Given the description of an element on the screen output the (x, y) to click on. 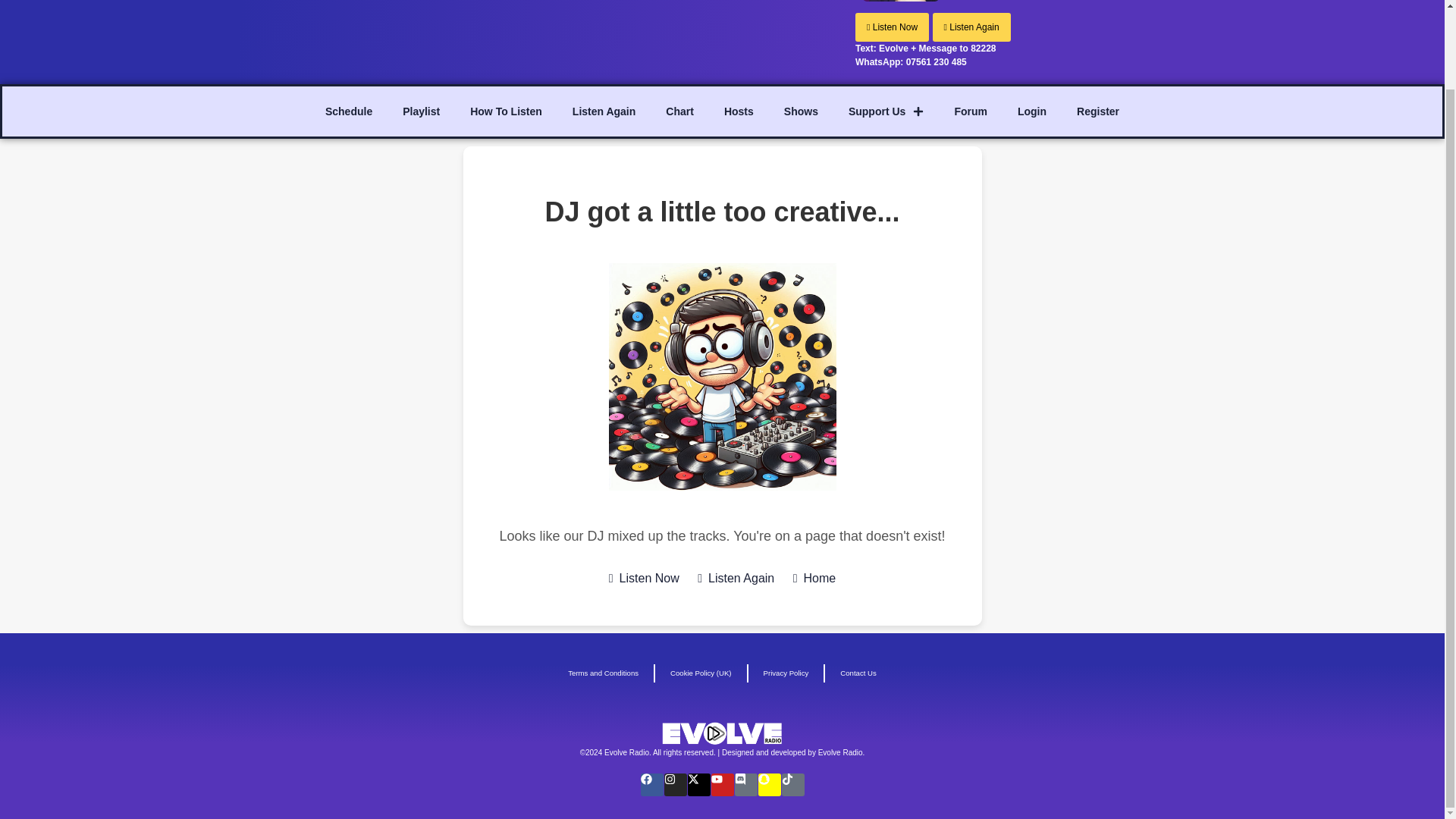
Schedule (348, 111)
Listen Again (970, 27)
Chart (679, 111)
Register (1097, 111)
Forum (971, 111)
Shows (800, 111)
Terms and Conditions (603, 673)
Playlist (420, 111)
Support Us (885, 111)
Home (814, 578)
How To Listen (505, 111)
Listen Now (643, 578)
Privacy Policy (786, 673)
Listen Again (735, 578)
Login (1032, 111)
